Given the description of an element on the screen output the (x, y) to click on. 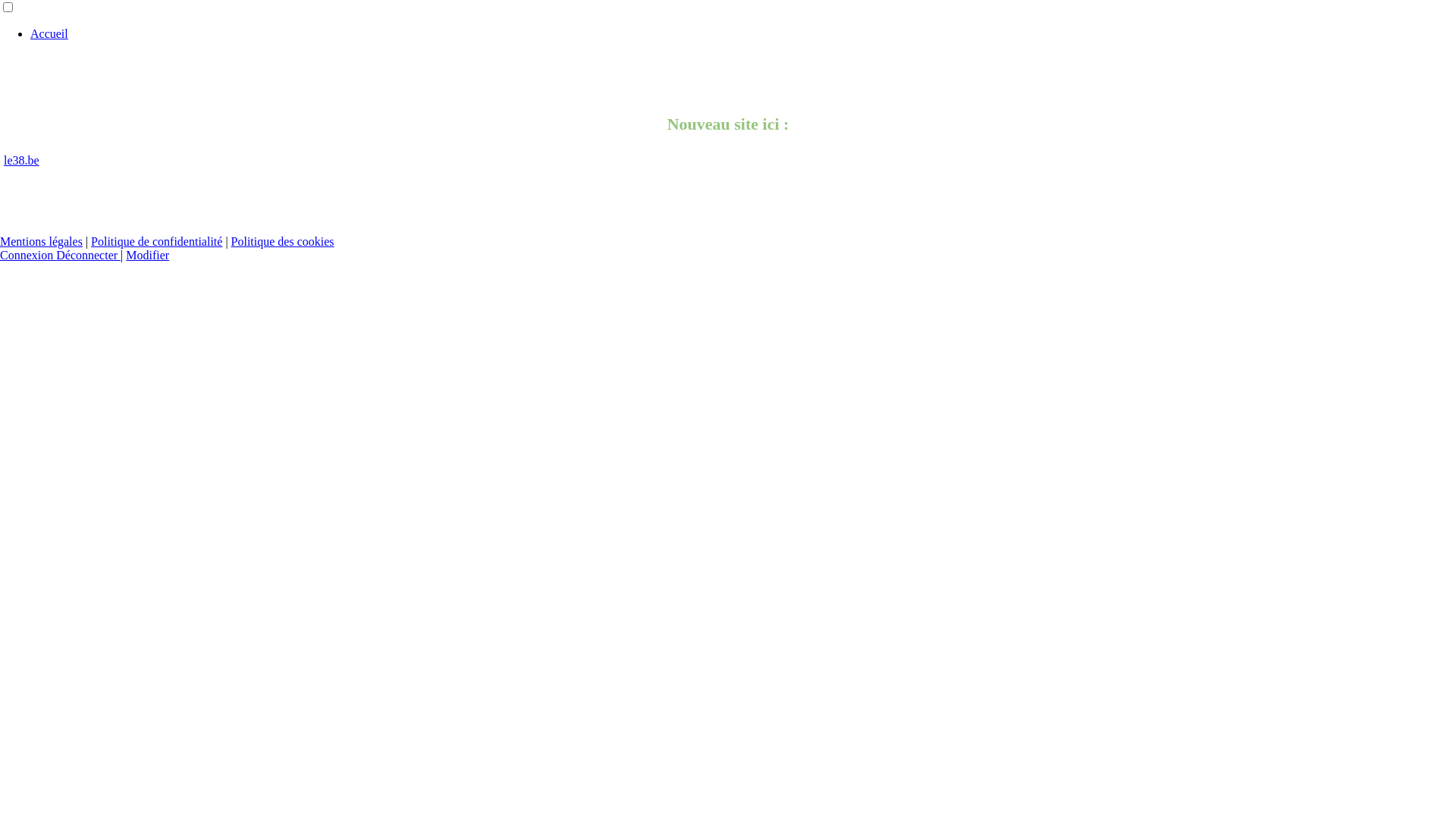
Politique des cookies Element type: text (282, 241)
le38.be Element type: text (21, 159)
Modifier Element type: text (147, 254)
Connexion Element type: text (28, 254)
Accueil Element type: text (49, 33)
